Given the description of an element on the screen output the (x, y) to click on. 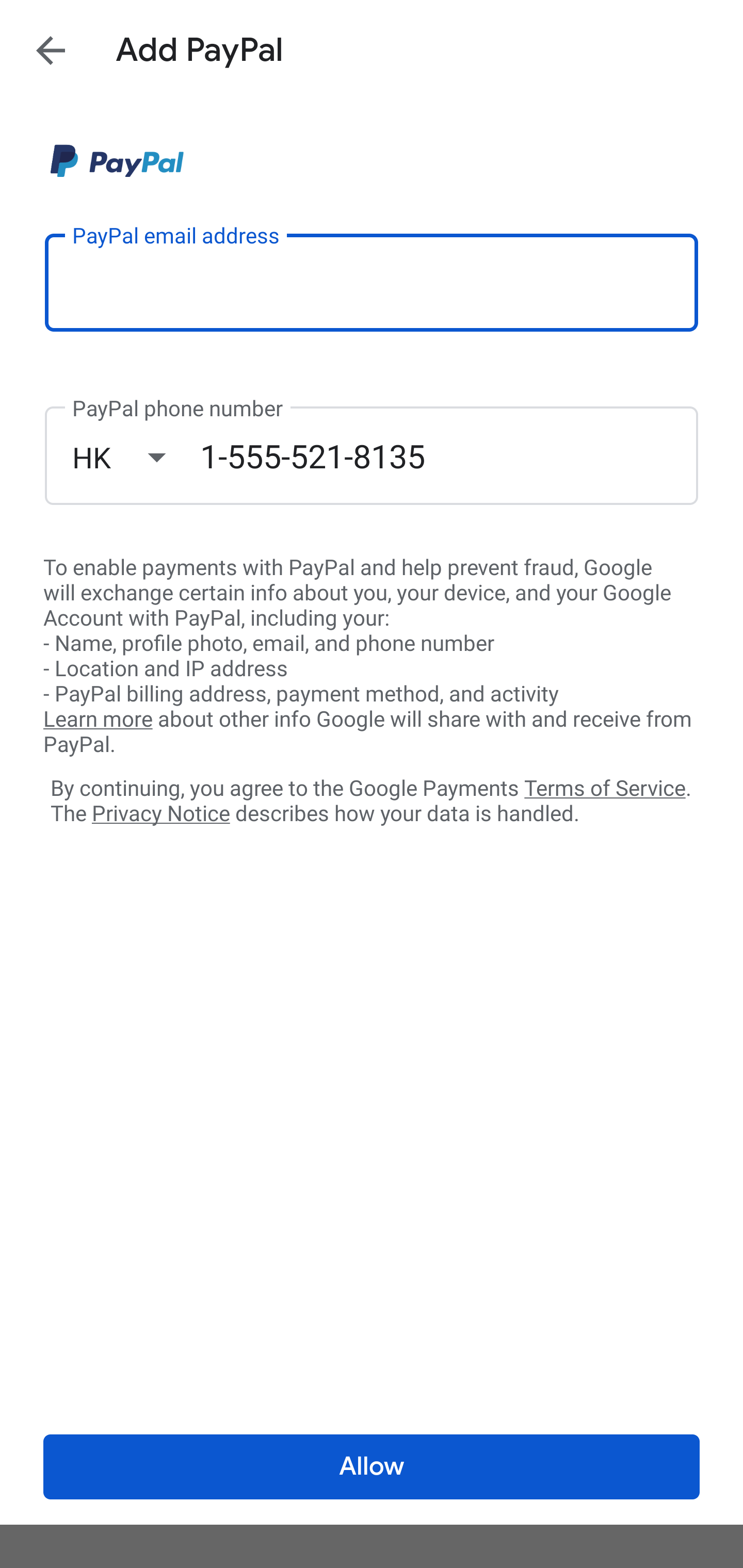
Navigate up (50, 50)
PayPal email address (371, 282)
HK (135, 456)
Learn more (97, 719)
Terms of Service (604, 787)
Privacy Notice (160, 814)
Allow (371, 1466)
